Given the description of an element on the screen output the (x, y) to click on. 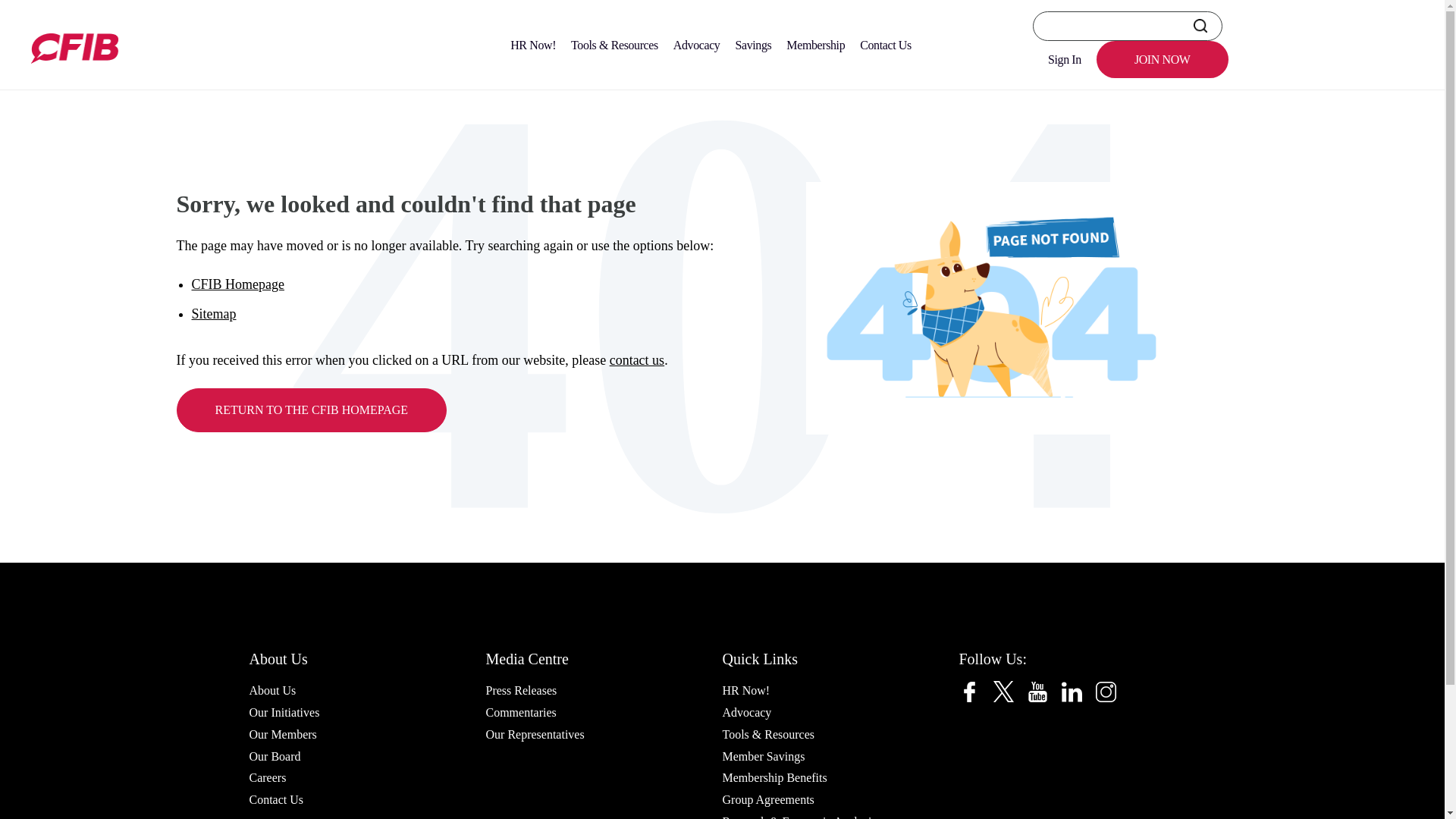
RETURN TO THE CFIB HOMEPAGE (311, 410)
Our Board (273, 755)
Savings (752, 44)
Sign In (1064, 58)
contact us (636, 359)
Our Members (281, 733)
JOIN NOW (1162, 58)
Our Representatives (533, 733)
Press Releases (520, 690)
HR Now! (746, 690)
